Given the description of an element on the screen output the (x, y) to click on. 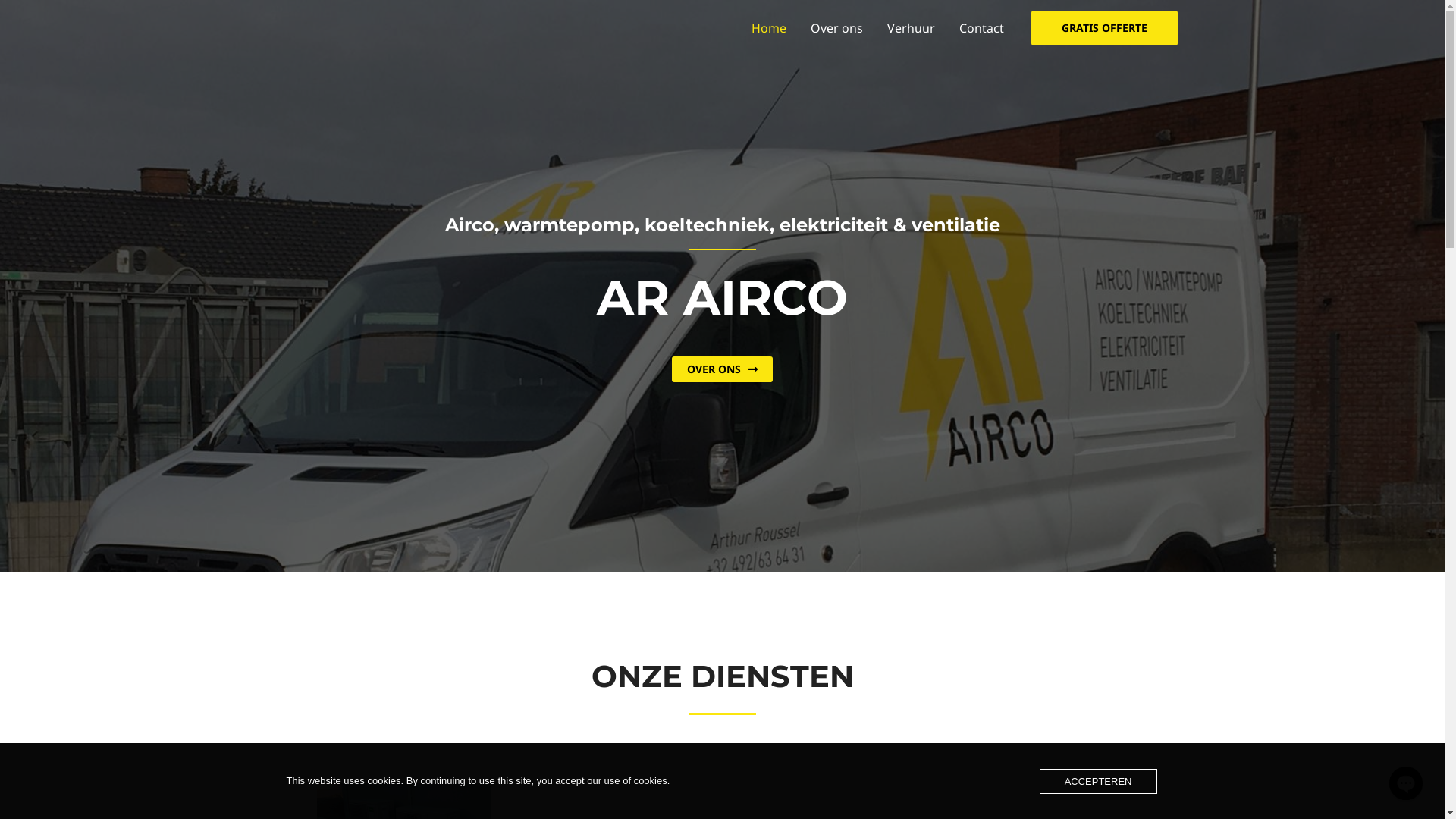
Contact Element type: text (980, 28)
Verhuur Element type: text (911, 28)
ACCEPTEREN Element type: text (1098, 780)
OVER ONS Element type: text (721, 369)
Home Element type: text (767, 28)
Over ons Element type: text (835, 28)
GRATIS OFFERTE Element type: text (1104, 27)
